Given the description of an element on the screen output the (x, y) to click on. 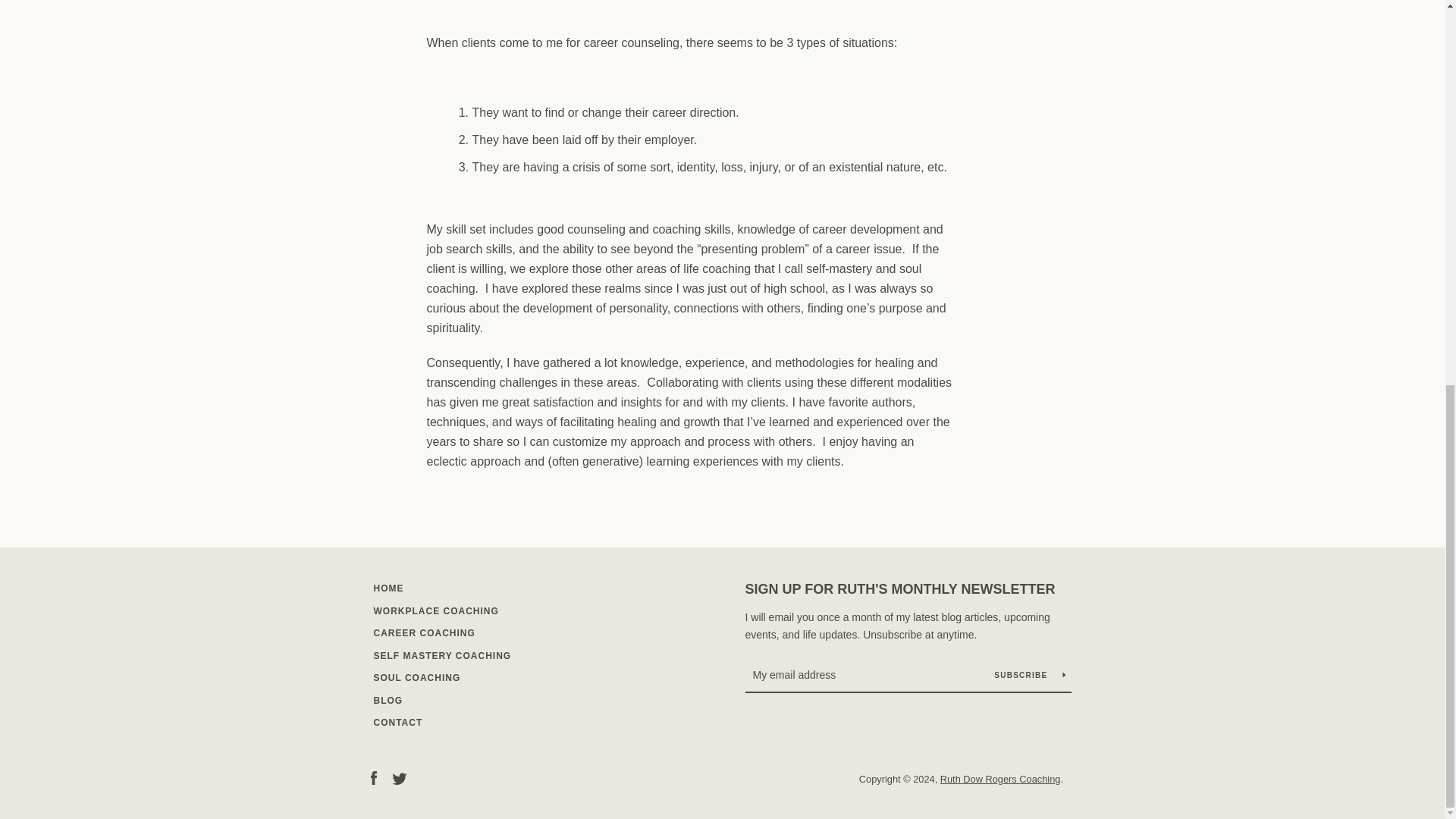
Ruth Dow Rogers Coaching on Facebook (372, 777)
HOME (387, 588)
SOUL COACHING (416, 677)
SUBSCRIBE (1029, 674)
CONTACT (397, 722)
Ruth Dow Rogers Coaching on Twitter (399, 777)
Facebook (372, 777)
CAREER COACHING (423, 633)
SELF MASTERY COACHING (441, 655)
WORKPLACE COACHING (434, 611)
BLOG (387, 700)
